Given the description of an element on the screen output the (x, y) to click on. 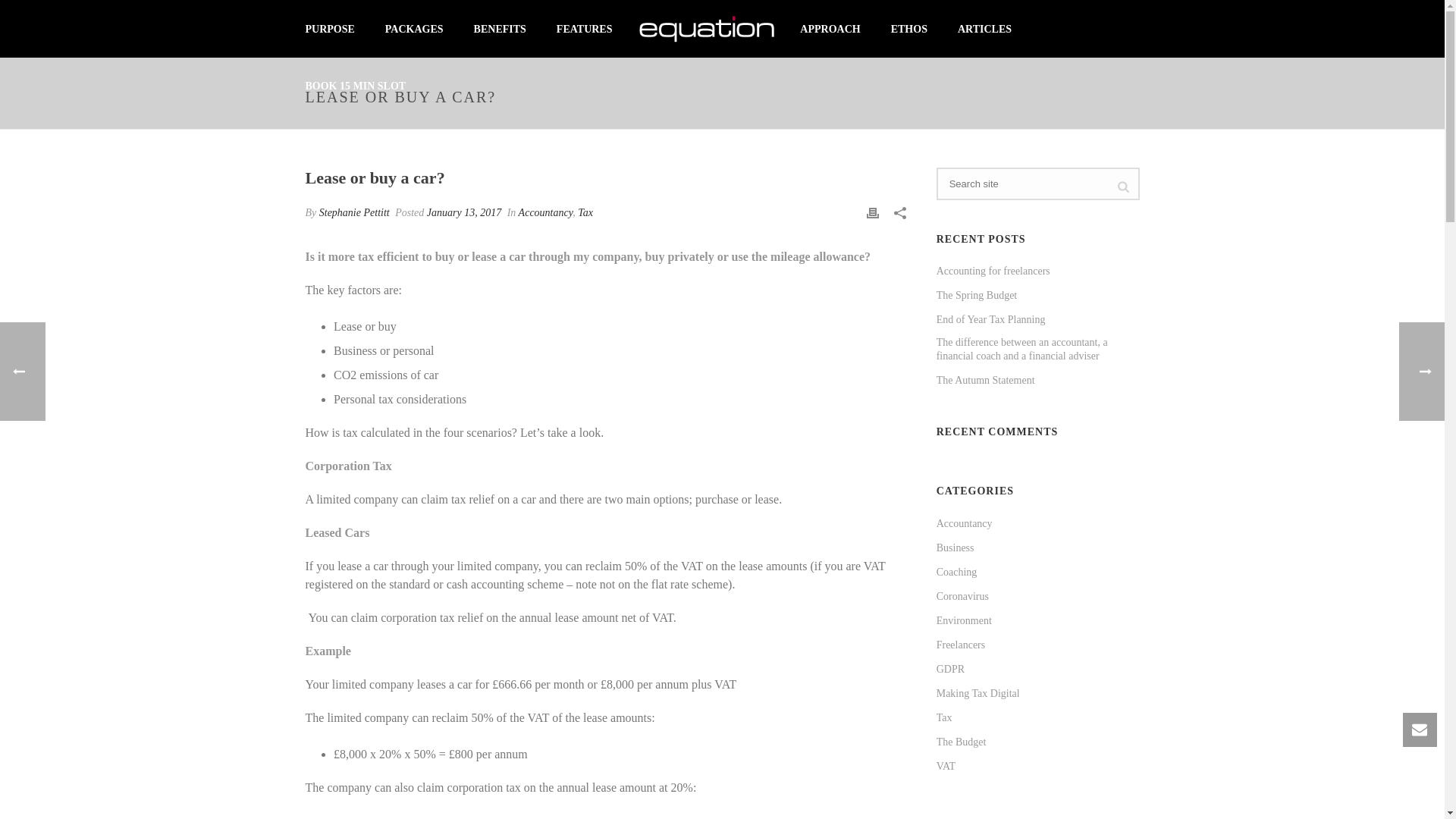
The Autumn Statement (985, 380)
Equation: (706, 28)
ARTICLES (984, 29)
ETHOS (909, 29)
ARTICLES (984, 29)
BENEFITS (499, 29)
PURPOSE (329, 29)
Posts by Stephanie Pettitt (354, 212)
Stephanie Pettitt (354, 212)
